Given the description of an element on the screen output the (x, y) to click on. 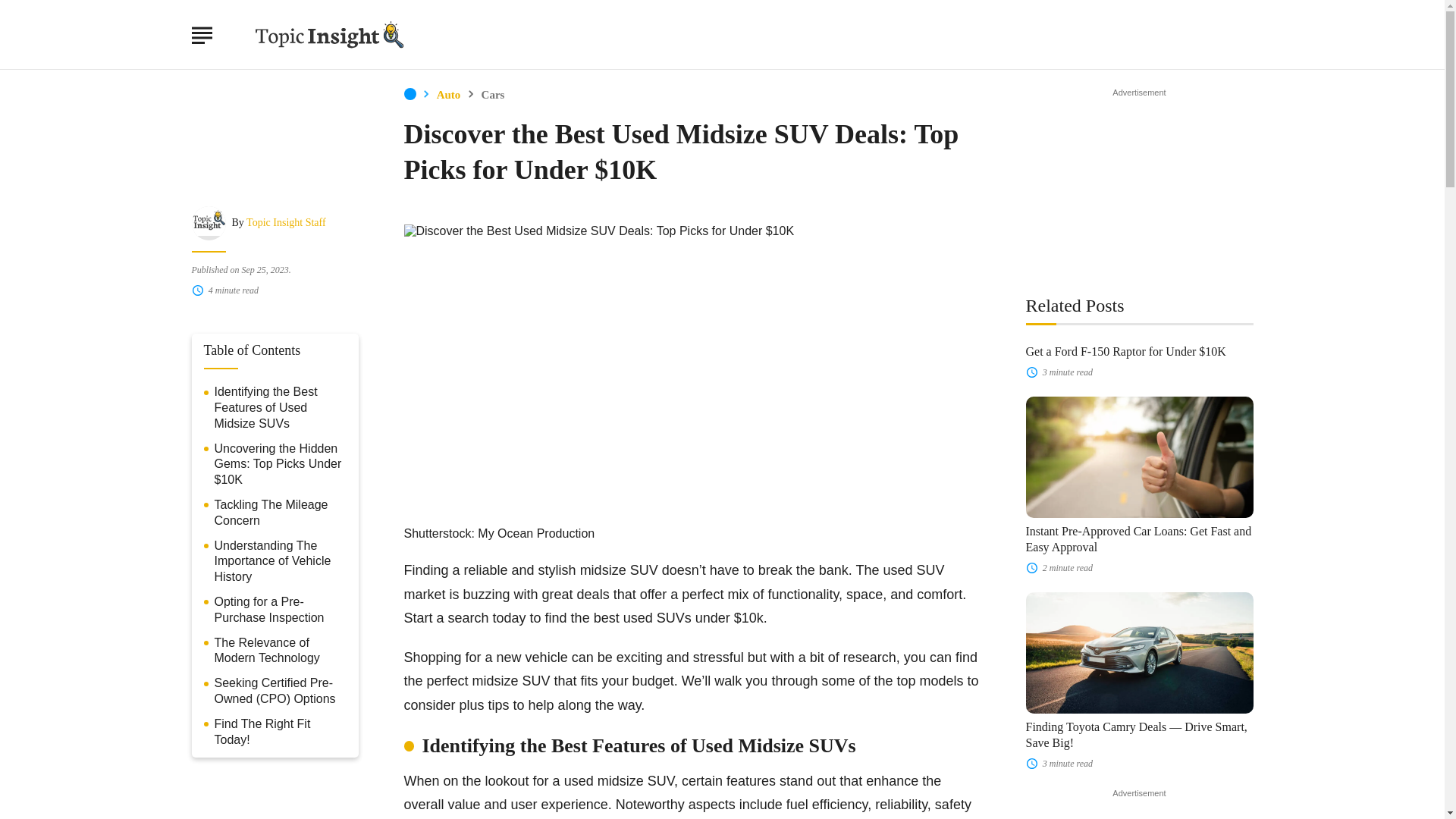
Tackling The Mileage Concern (280, 513)
Identifying the Best Features of Used Midsize SUVs (280, 407)
The Relevance of Modern Technology (280, 651)
Opting for a Pre-Purchase Inspection (280, 610)
Cars (493, 94)
Understanding The Importance of Vehicle History (280, 561)
Instant Pre-Approved Car Loans: Get Fast and Easy Approval (1138, 456)
Auto (448, 94)
Home (408, 93)
Find The Right Fit Today! (280, 732)
